Given the description of an element on the screen output the (x, y) to click on. 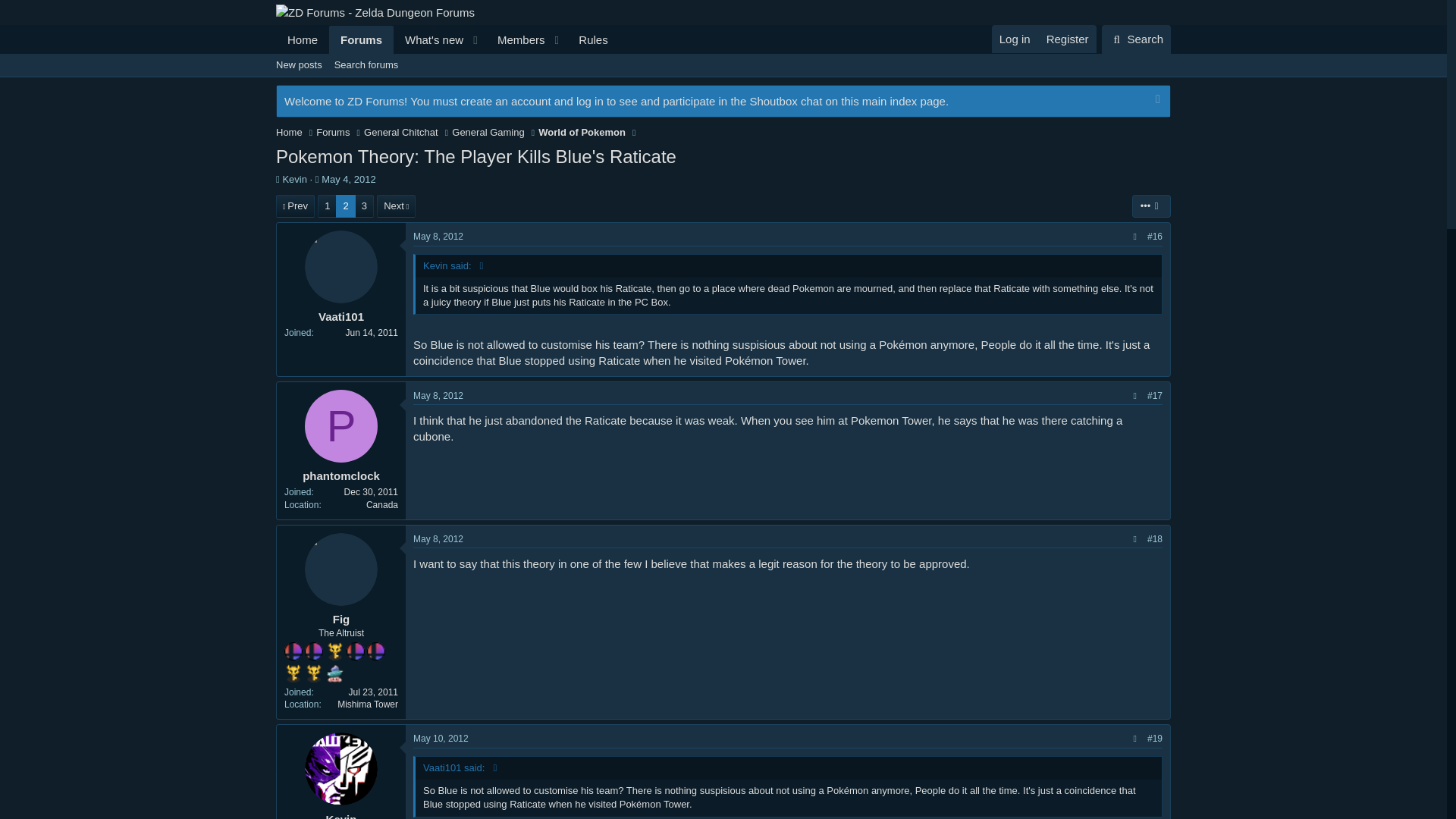
Forums (332, 132)
May 8, 2012 at 10:18 AM (438, 395)
New posts (299, 65)
Search forums (366, 65)
Members (516, 39)
Kevin (447, 39)
Search (294, 179)
Search (1136, 39)
Forums (1136, 39)
